Given the description of an element on the screen output the (x, y) to click on. 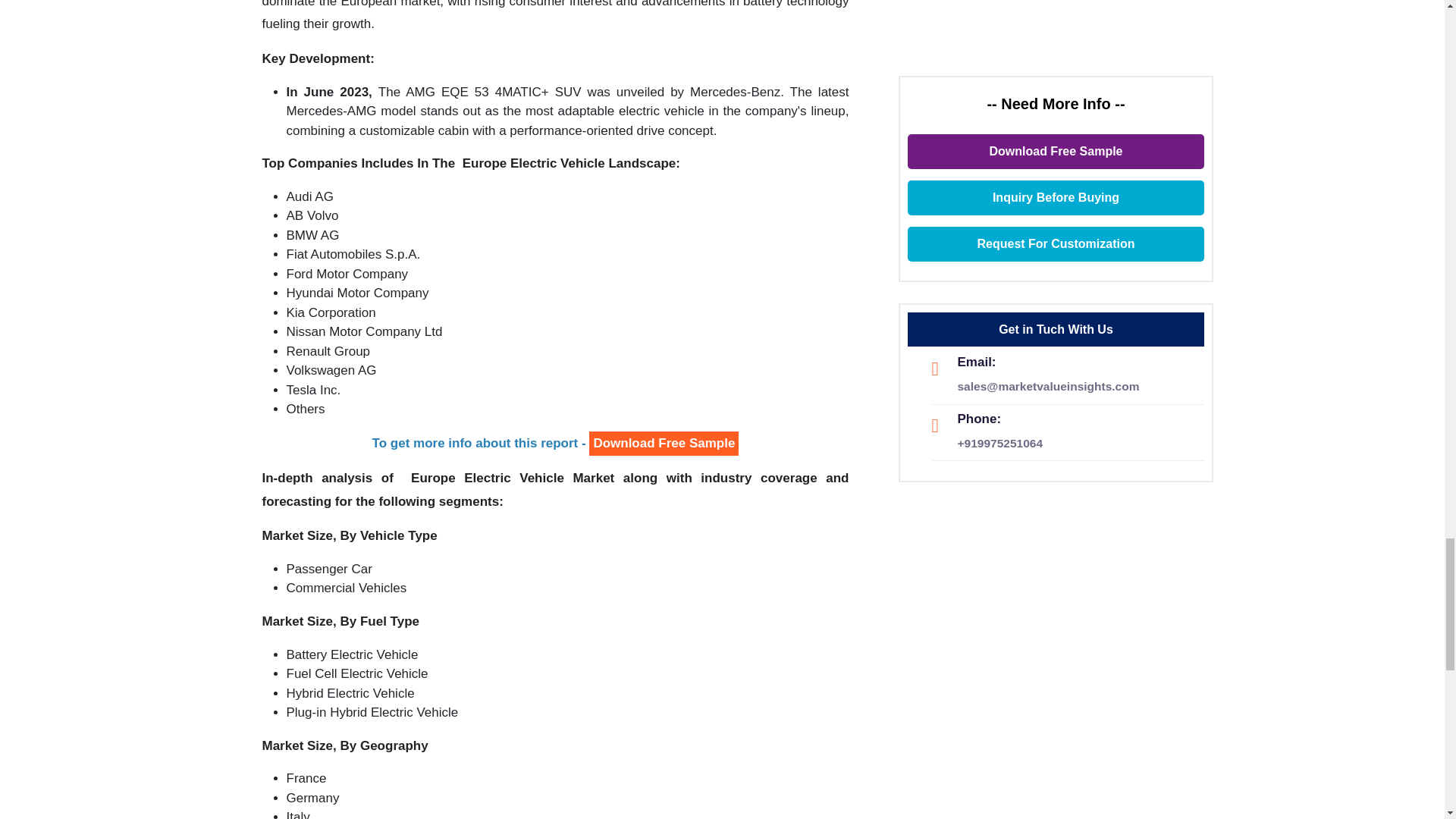
Download Free Sample (663, 443)
